Given the description of an element on the screen output the (x, y) to click on. 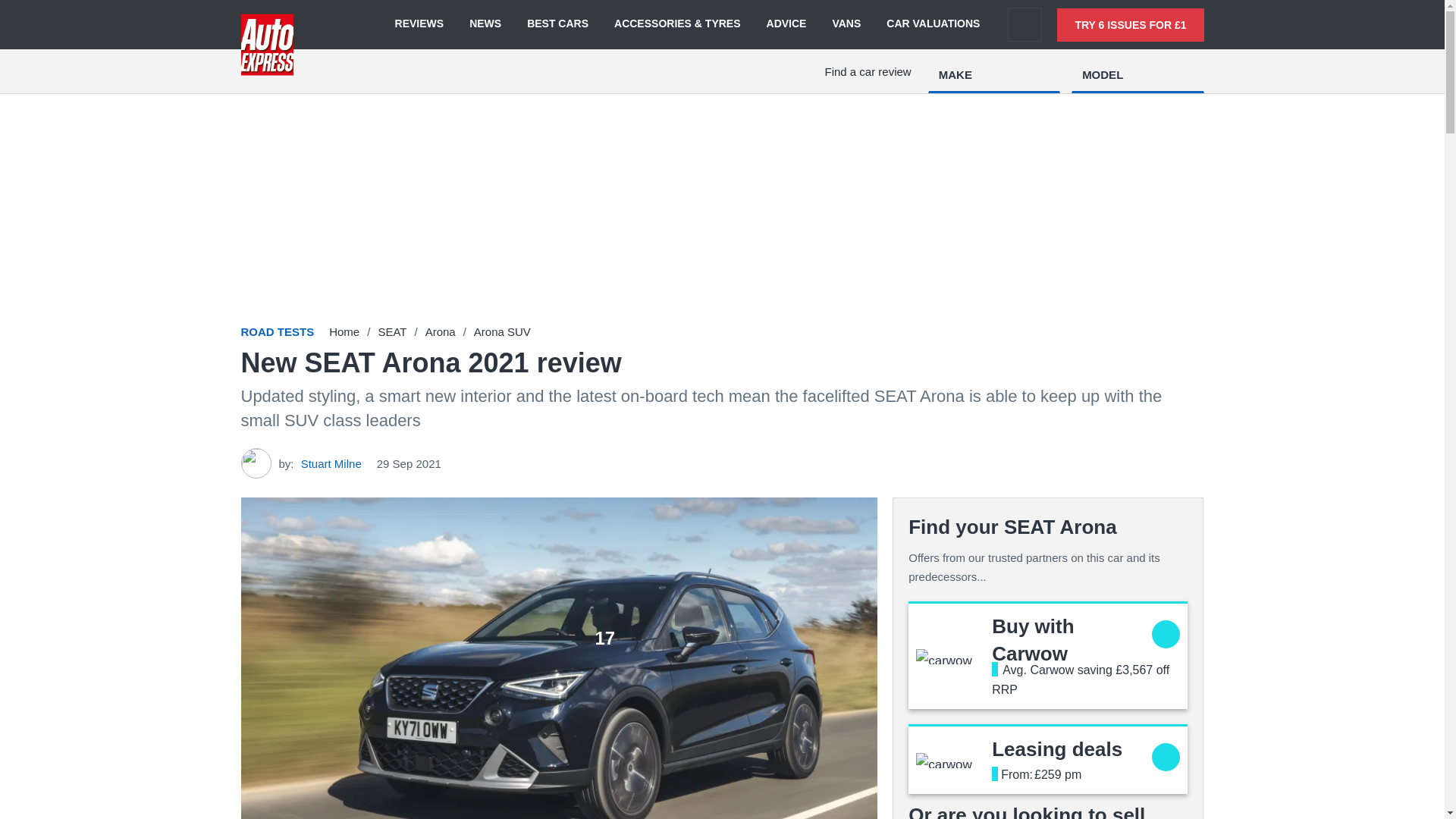
VANS (845, 24)
REVIEWS (419, 24)
Search (1024, 24)
Search (1024, 24)
CAR VALUATIONS (932, 24)
ADVICE (786, 24)
BEST CARS (557, 24)
NEWS (485, 24)
